Given the description of an element on the screen output the (x, y) to click on. 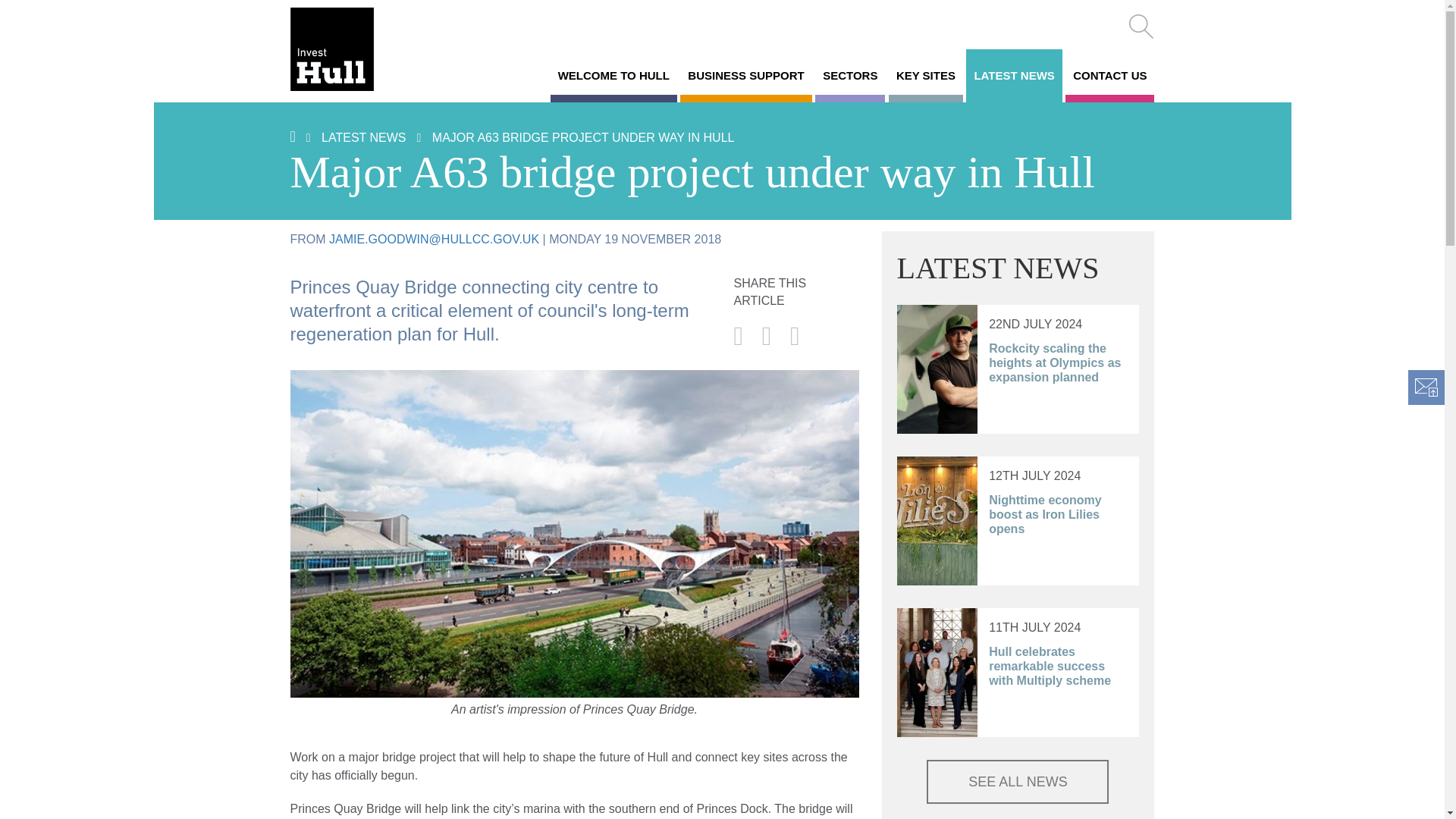
SECTORS (850, 75)
LATEST NEWS (363, 137)
WELCOME TO HULL (613, 75)
CONTACT US (1109, 75)
Home (351, 48)
KEY SITES (925, 75)
SEE ALL NEWS (1017, 781)
